Given the description of an element on the screen output the (x, y) to click on. 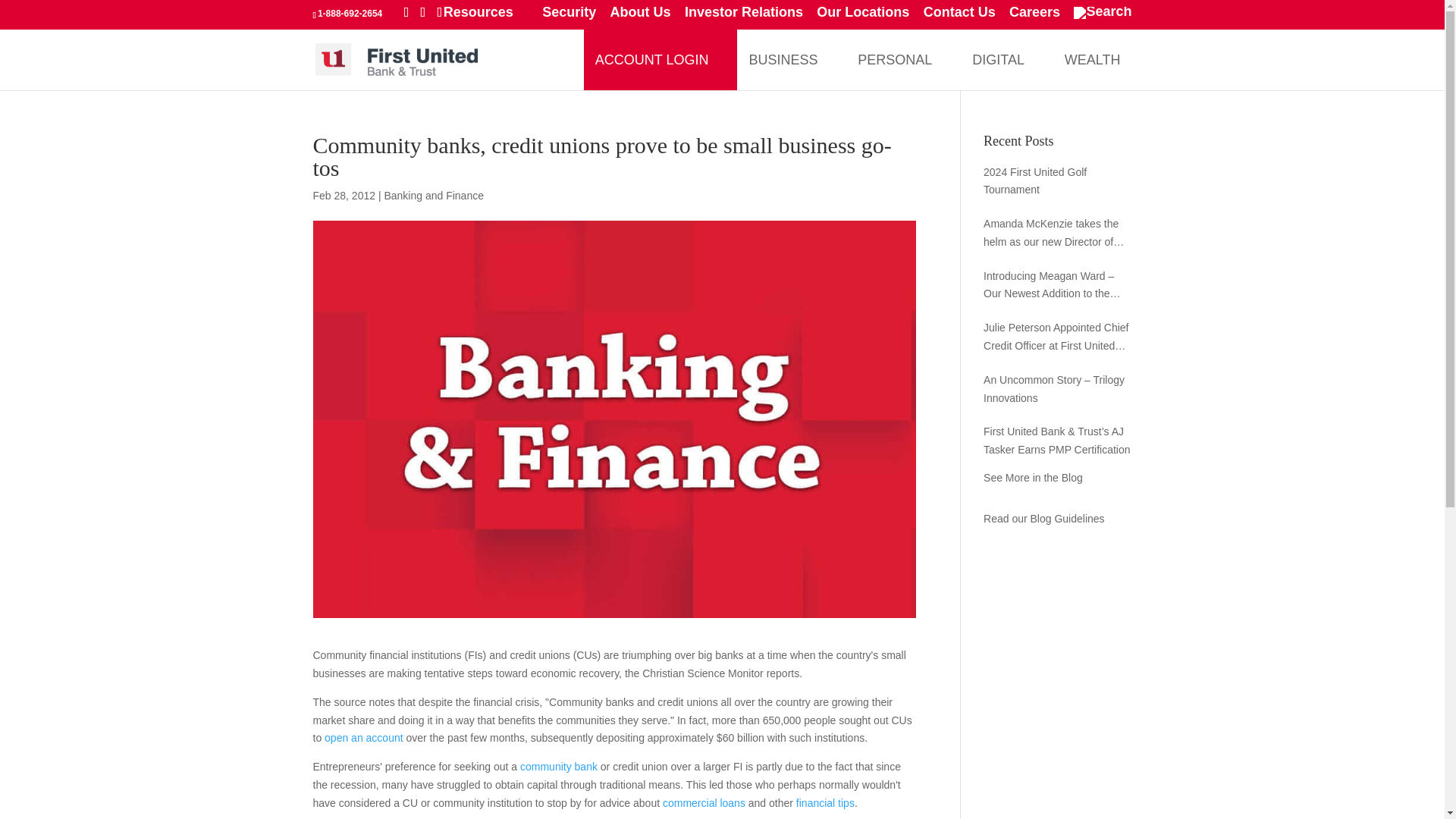
About Us (640, 17)
ACCOUNT LOGIN (651, 58)
Security (568, 17)
Careers (1034, 17)
Contact Us (959, 17)
Investor Relations (743, 17)
Resources (486, 17)
PERSONAL (894, 58)
Wealth (1092, 58)
BUSINESS (782, 58)
